Given the description of an element on the screen output the (x, y) to click on. 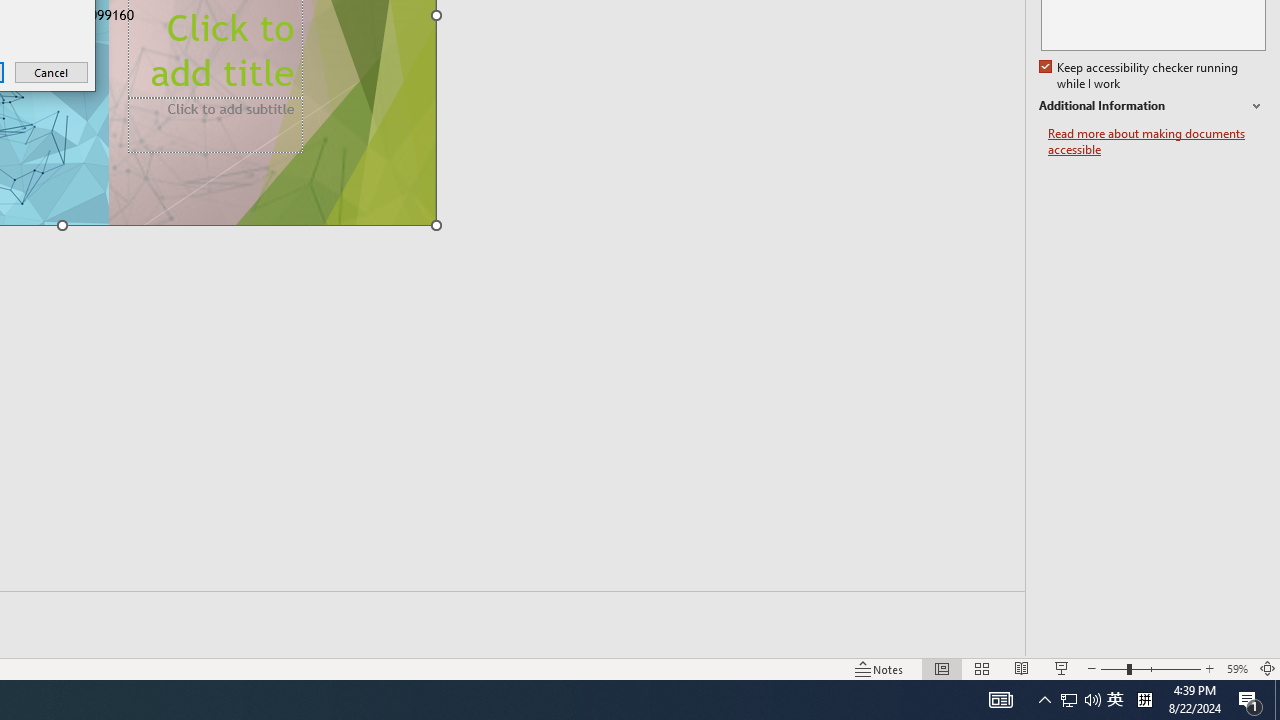
Keep accessibility checker running while I work (1069, 699)
Additional Information (1140, 76)
Show desktop (1152, 106)
